Given the description of an element on the screen output the (x, y) to click on. 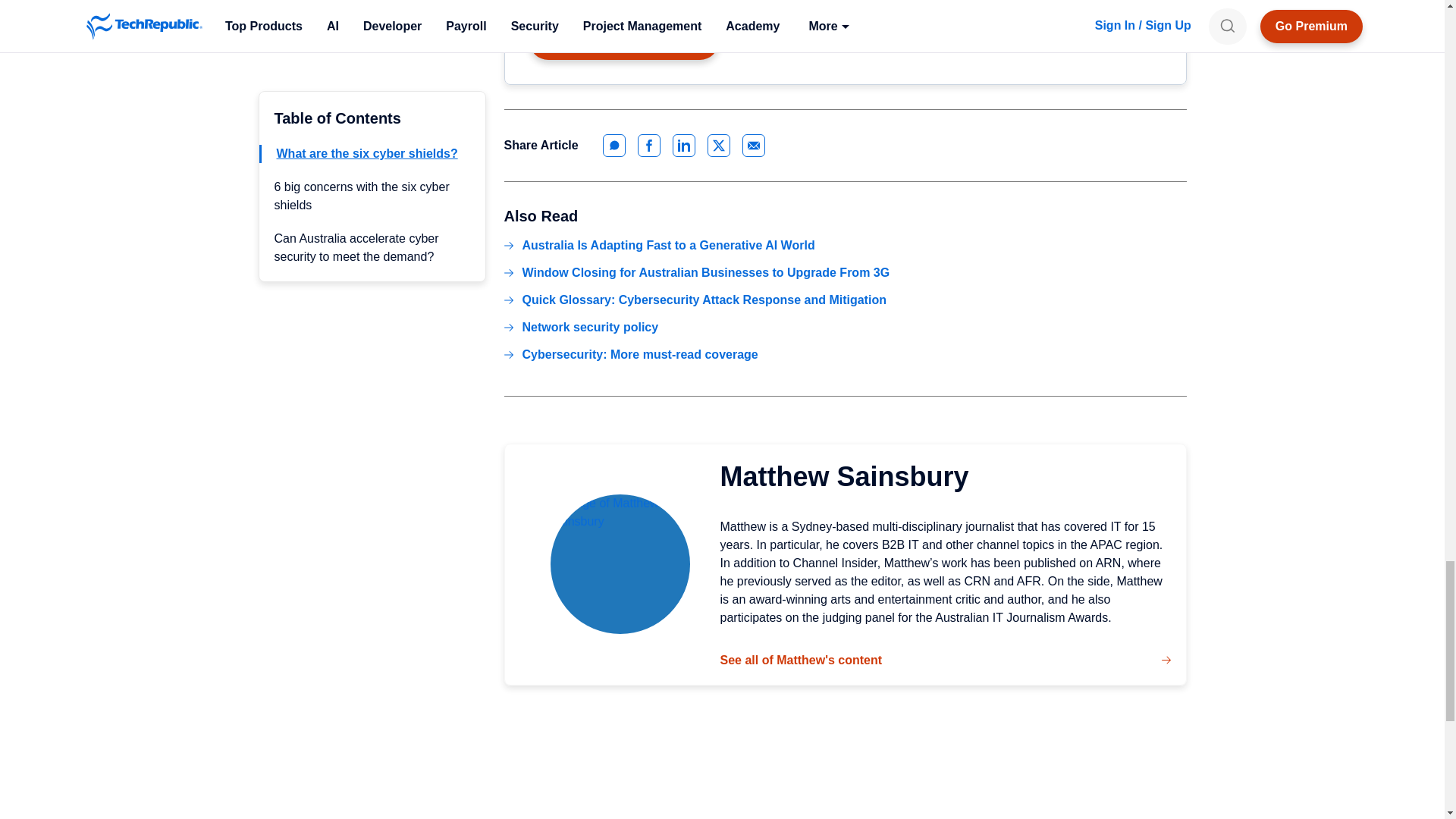
on (539, 3)
